Given the description of an element on the screen output the (x, y) to click on. 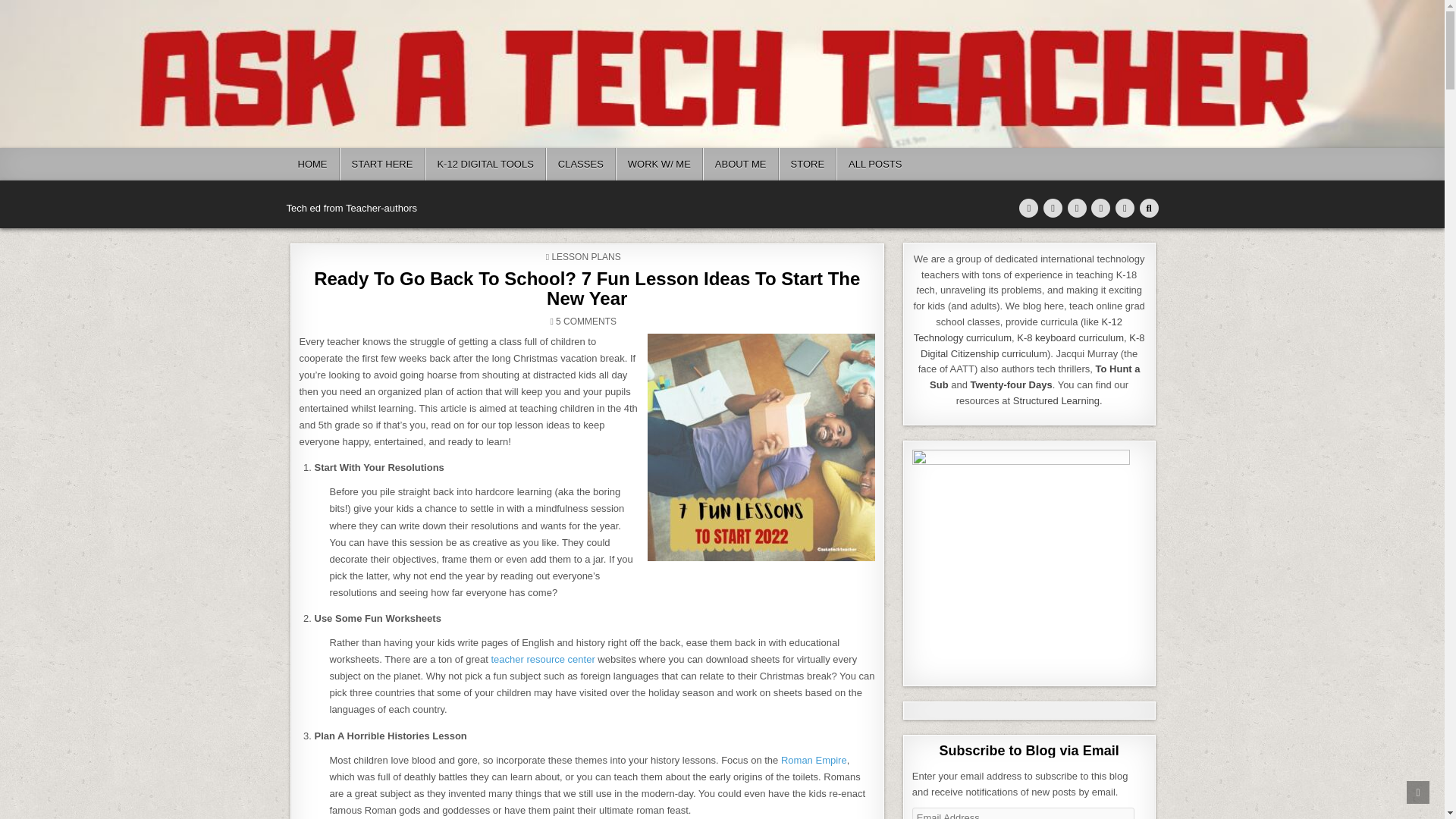
SCROLL TO TOP (1417, 792)
START HERE (382, 164)
HOME (312, 164)
K-12 DIGITAL TOOLS (484, 164)
